Given the description of an element on the screen output the (x, y) to click on. 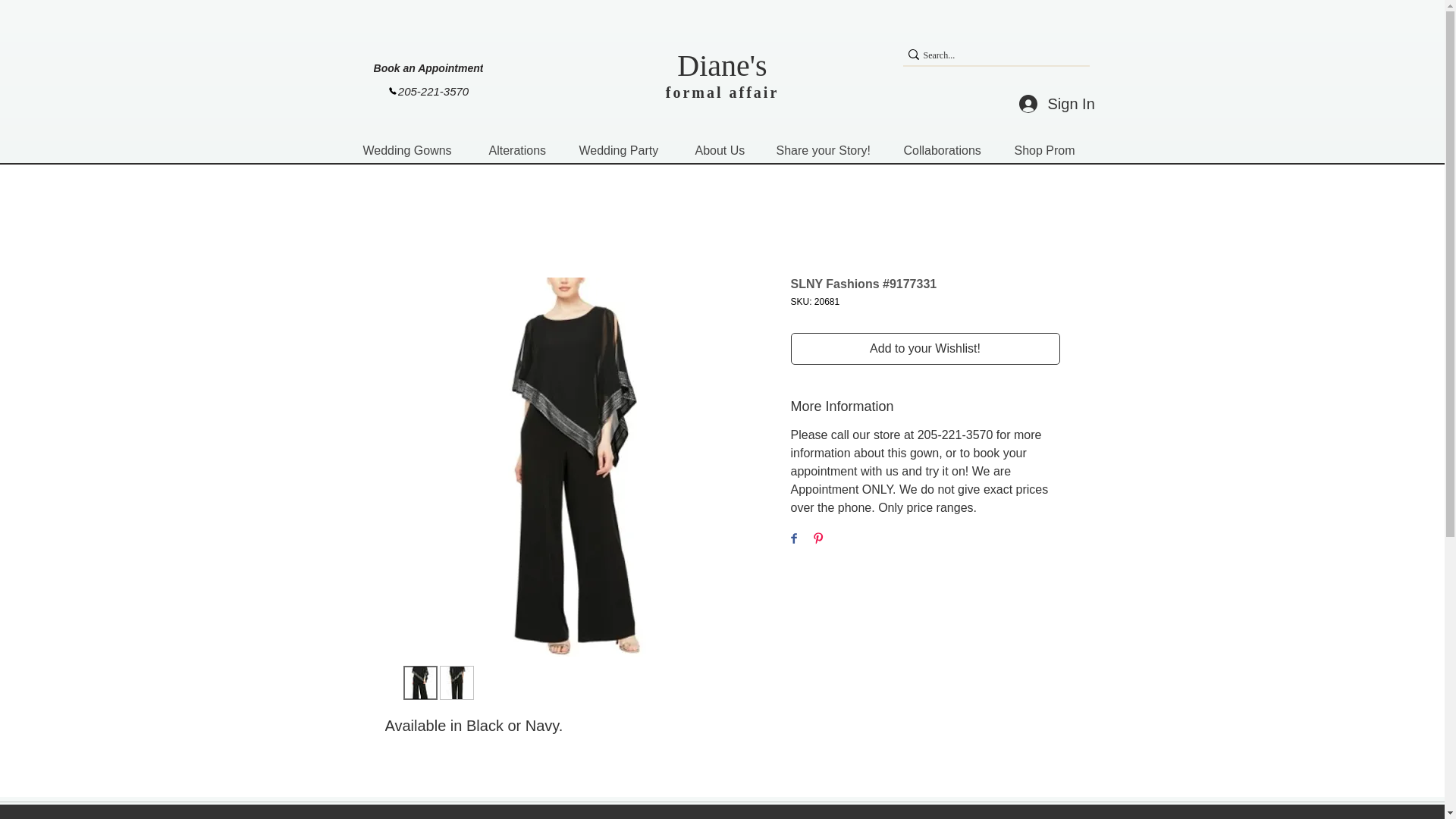
Alterations (521, 149)
Shop Prom (1048, 149)
Wedding Party (624, 149)
Add to your Wishlist! (924, 348)
Share your Story! (827, 149)
Sign In (1051, 103)
205-221-3570 (427, 90)
Book an Appointment (427, 67)
